Given the description of an element on the screen output the (x, y) to click on. 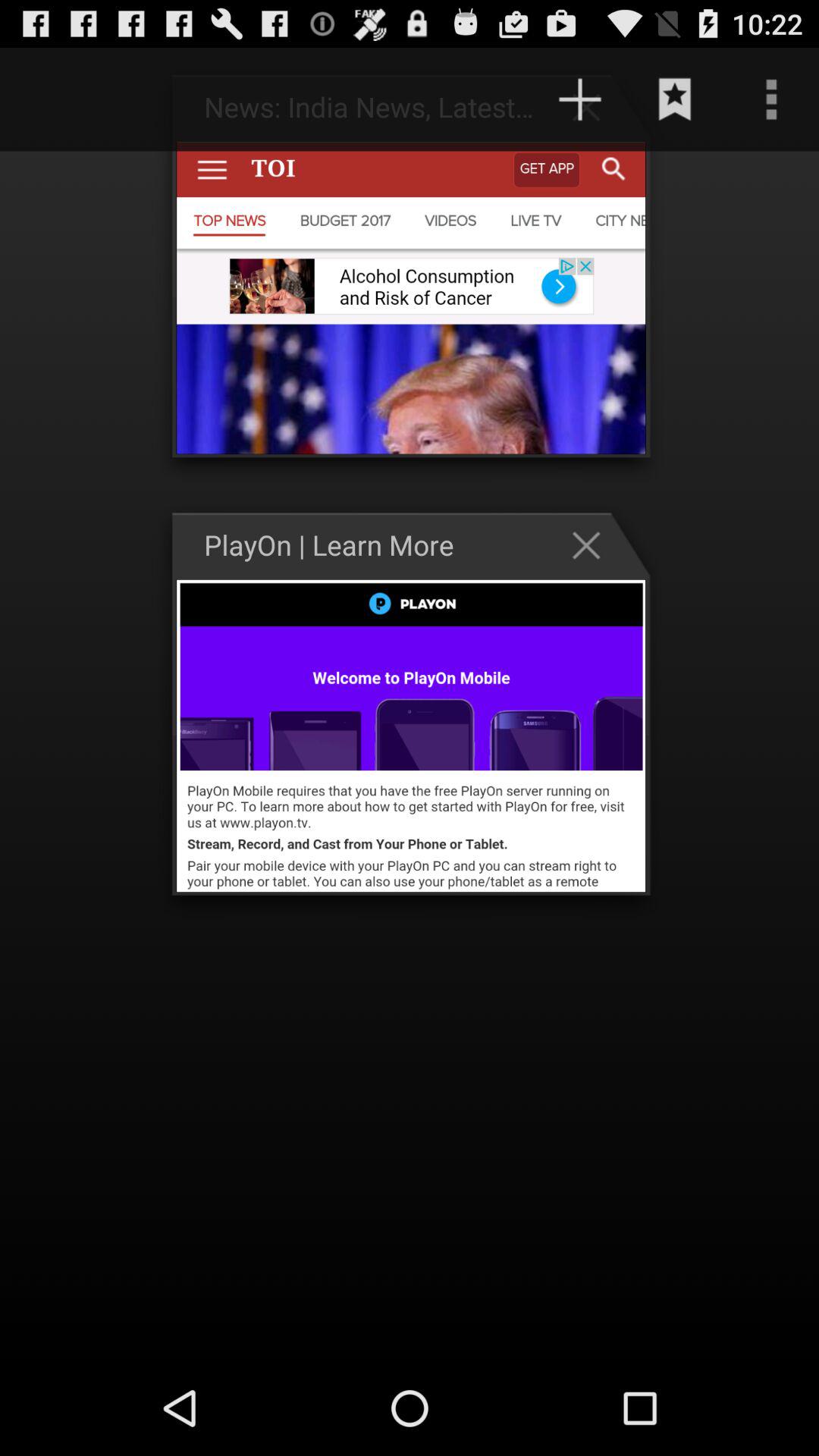
click app above the playon | learn more (579, 99)
